Given the description of an element on the screen output the (x, y) to click on. 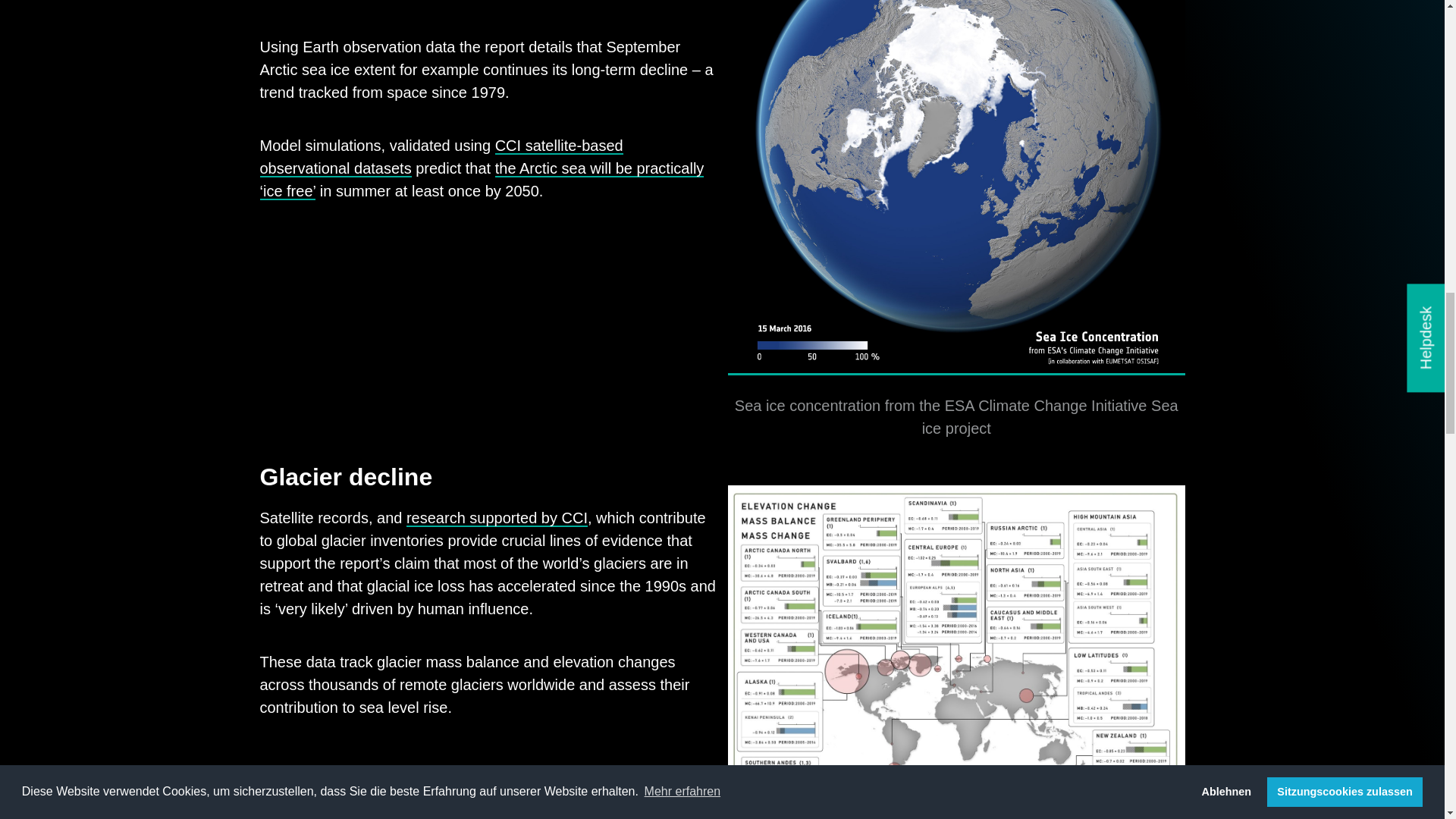
CCI satellite-based observational datasets (441, 157)
Global glacier mass loss. Source: IPCC AR6 WGI (956, 748)
Global glacier mass loss. Source: IPCC AR6 WGI (956, 748)
research supported by CCI (497, 518)
